Given the description of an element on the screen output the (x, y) to click on. 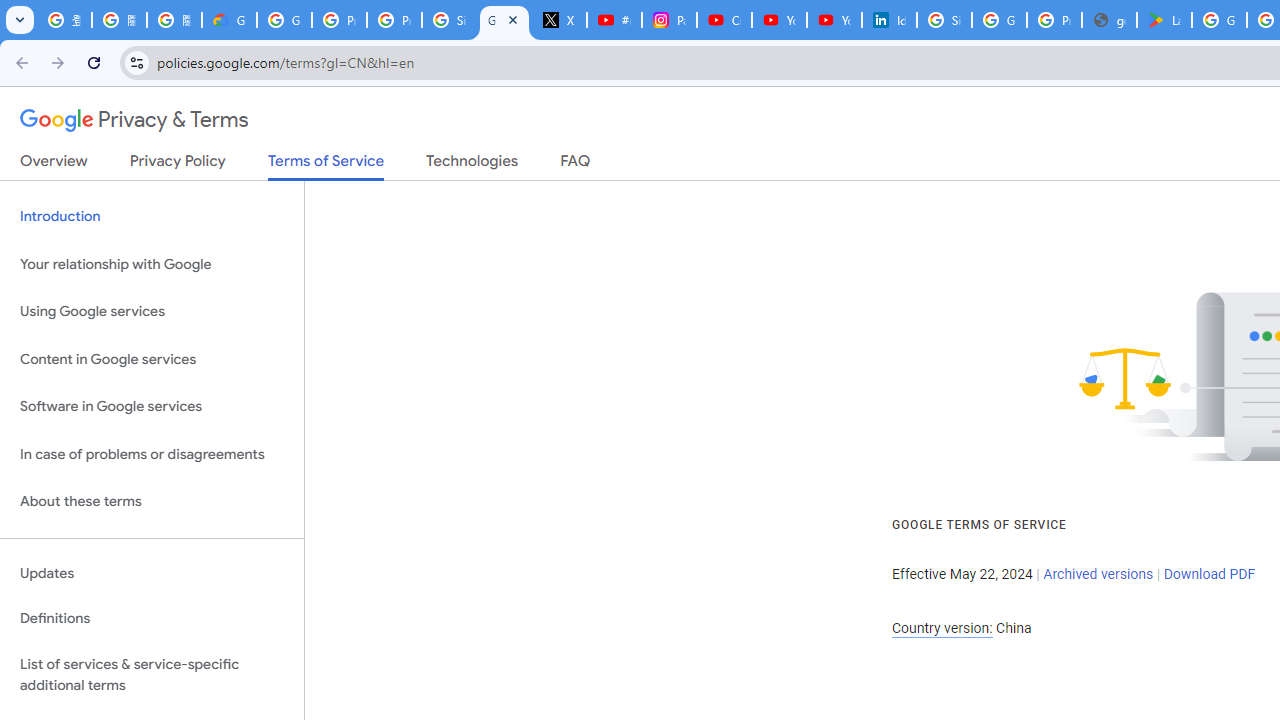
Using Google services (152, 312)
Last Shelter: Survival - Apps on Google Play (1163, 20)
Your relationship with Google (152, 263)
Archived versions (1098, 574)
In case of problems or disagreements (152, 453)
Content in Google services (152, 358)
Definitions (152, 619)
